Given the description of an element on the screen output the (x, y) to click on. 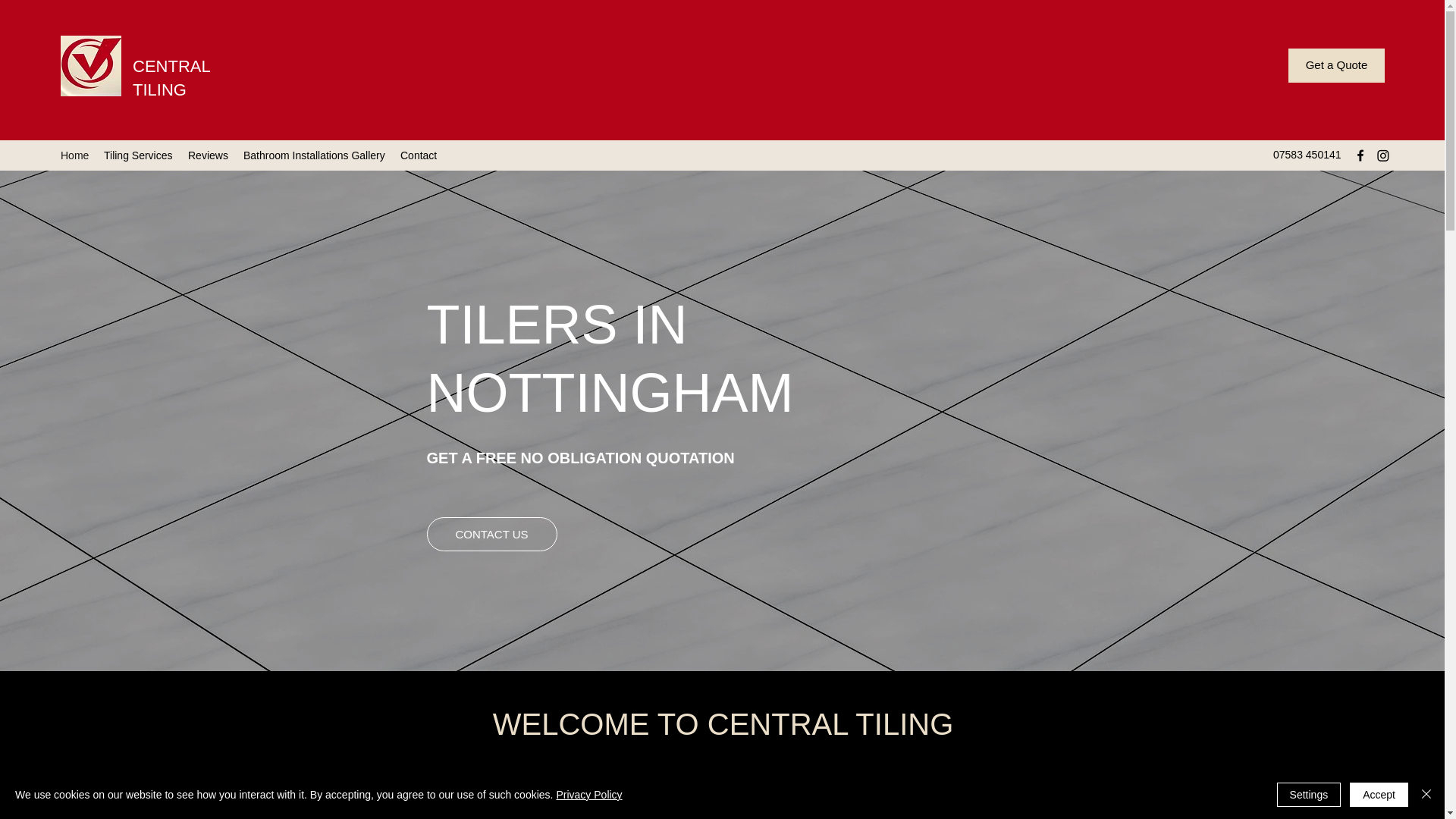
Bathroom Installations Gallery (314, 155)
Settings (1308, 794)
Reviews (207, 155)
CENTRAL TILING (170, 77)
CONTACT US (491, 533)
Accept (1378, 794)
Home (74, 155)
Get a Quote (1336, 65)
Privacy Policy (588, 794)
Contact (418, 155)
